Given the description of an element on the screen output the (x, y) to click on. 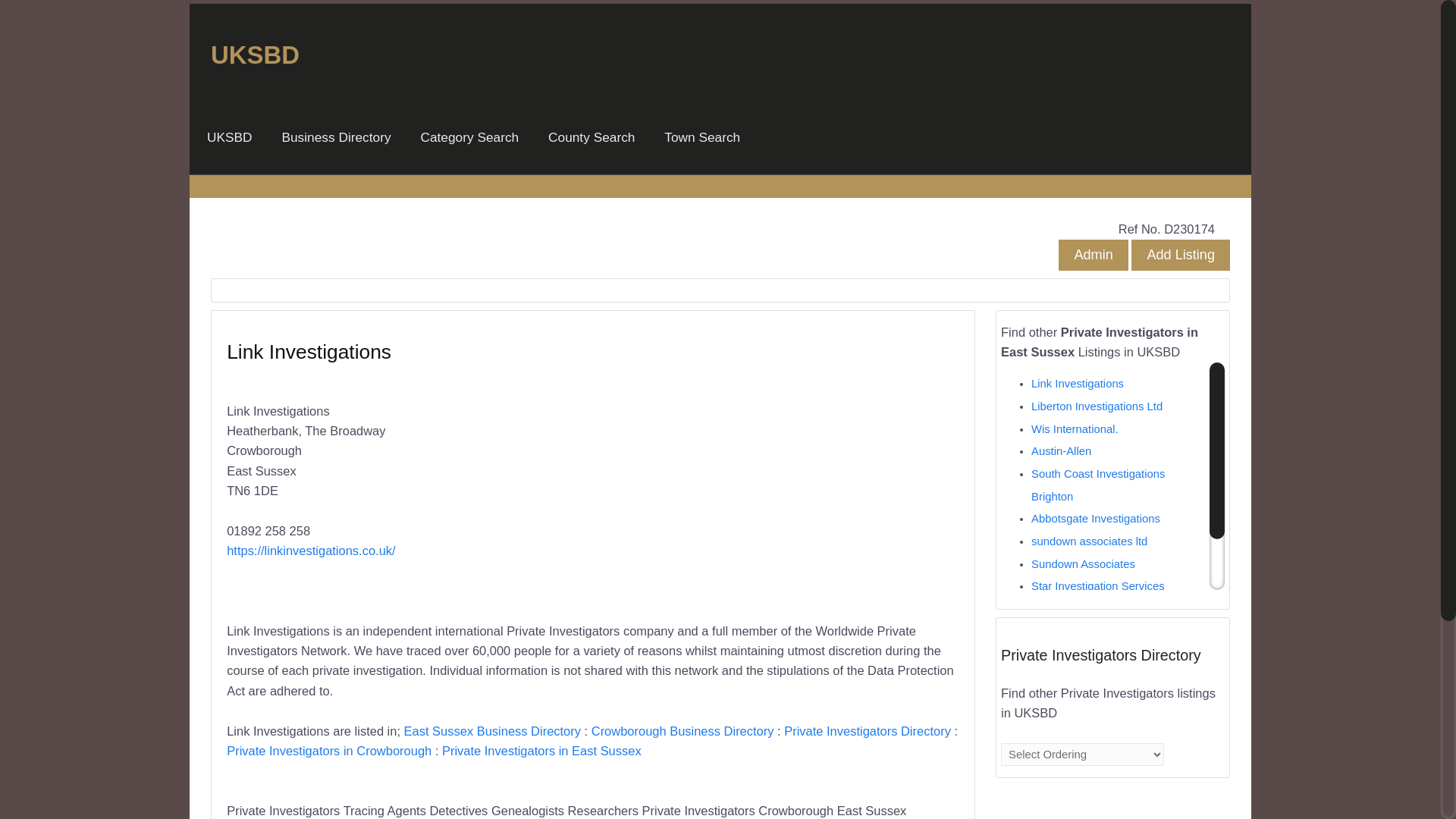
Private Investigators Directory (867, 730)
Private Investigators in Crowborough (328, 750)
UKSBD (230, 137)
Sundown Associates (1082, 563)
Austin-Allen (1060, 451)
County Search (590, 137)
Crowborough Business Directory (682, 730)
Link investigations. (1077, 608)
Category Search (468, 137)
Business Directory (335, 137)
sundown associates ltd (1088, 541)
Link Investigations (1077, 383)
Private Investigators in East Sussex (542, 750)
Add Listing (1180, 254)
Wis International. (1074, 428)
